Given the description of an element on the screen output the (x, y) to click on. 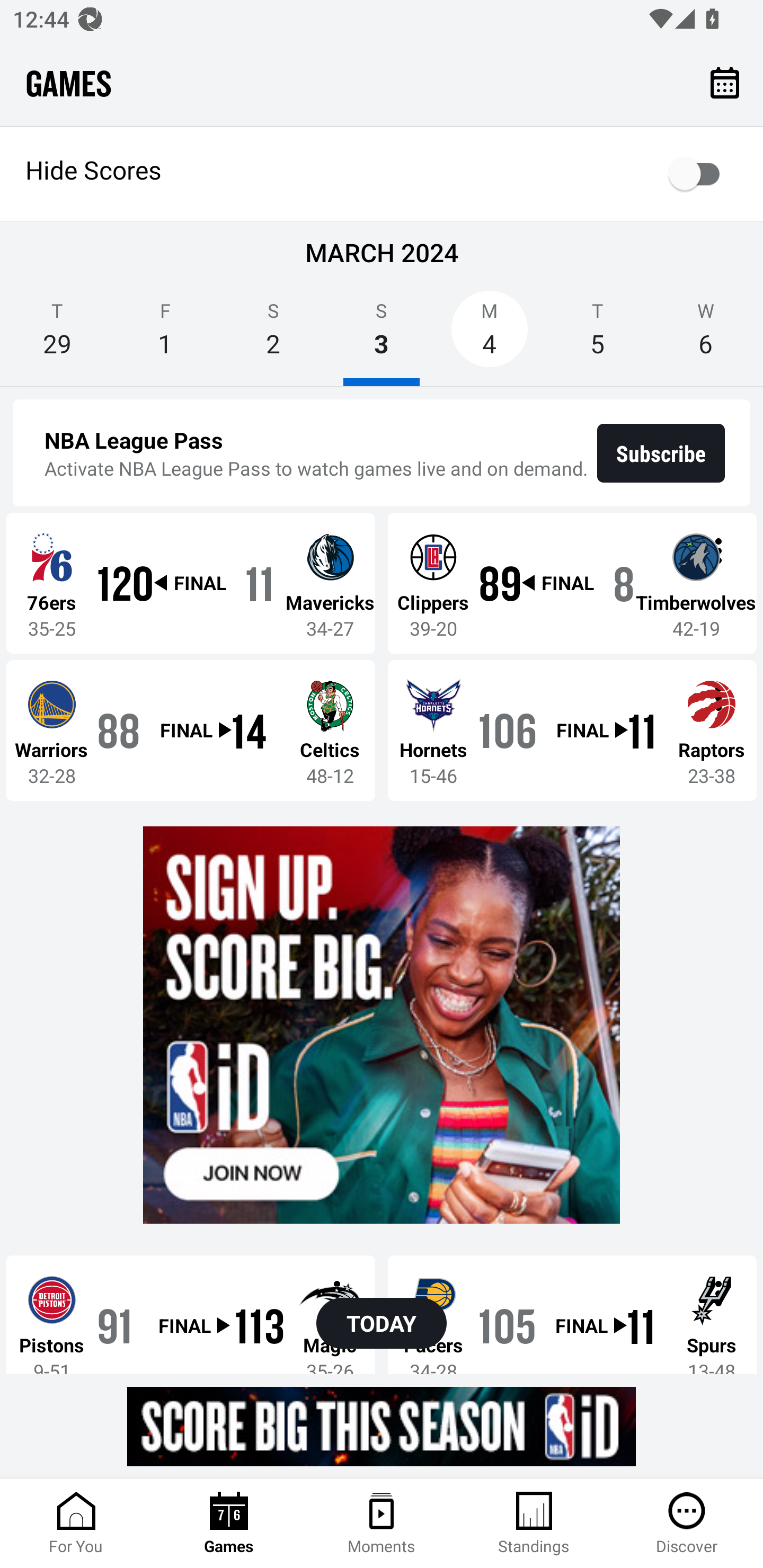
Calendar (724, 81)
Hide Scores (381, 174)
T 29 (57, 334)
F 1 (165, 334)
S 2 (273, 334)
S 3 (381, 334)
M 4 (489, 334)
T 5 (597, 334)
W 6 (705, 334)
Subscribe (660, 452)
TODAY (381, 1323)
For You (76, 1523)
Moments (381, 1523)
Standings (533, 1523)
Discover (686, 1523)
